Given the description of an element on the screen output the (x, y) to click on. 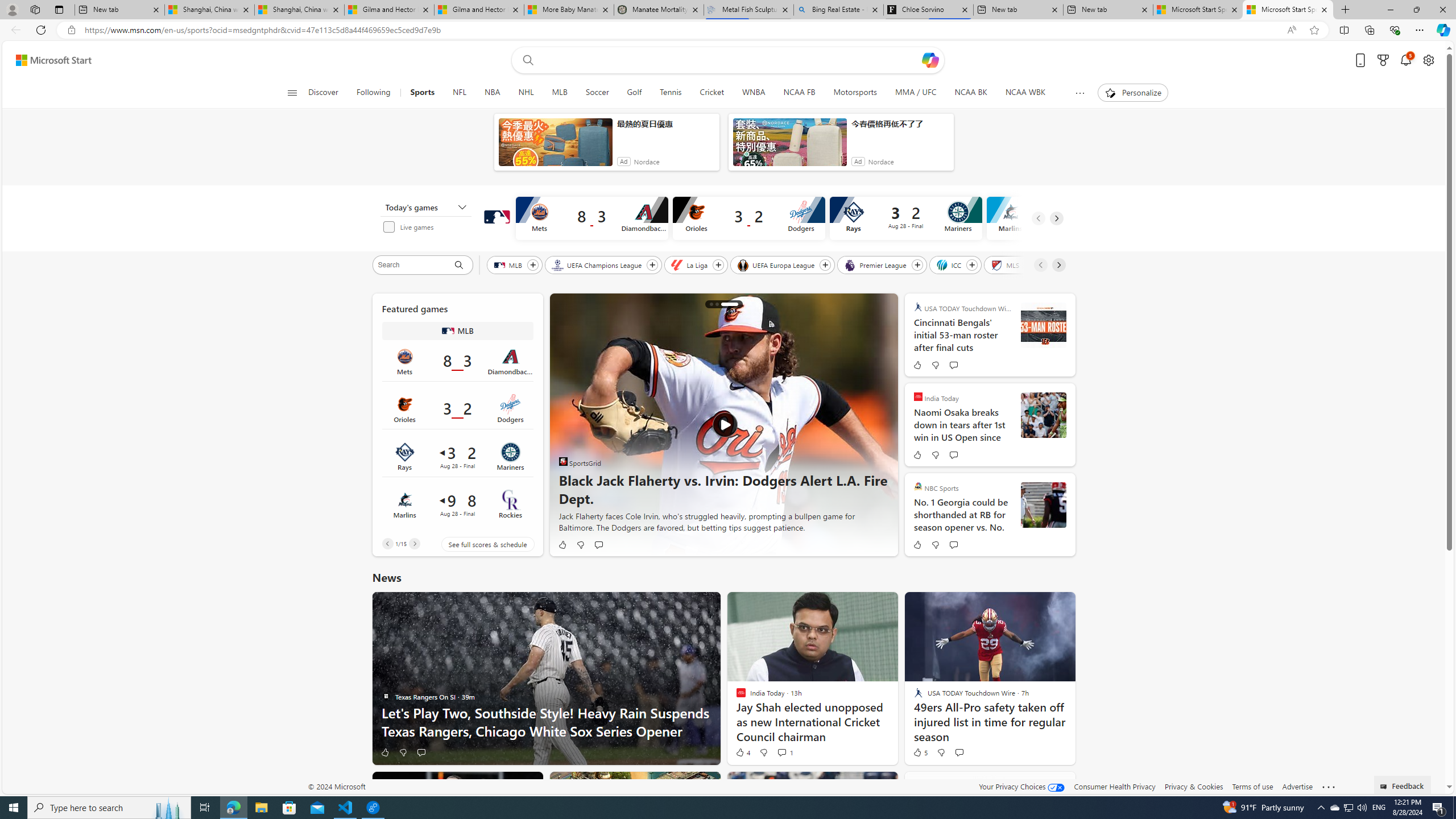
Class: around-the-league-card (456, 504)
NCAA FB (799, 92)
See more (1328, 787)
Tennis (670, 92)
Microsoft Start (53, 60)
NBA (492, 92)
Ad (857, 161)
NHL (526, 92)
Follow UEFA Champions League (652, 265)
Golf (633, 92)
Orioles 3 vs Dodgers 2Time 10:10 AM  (456, 409)
Bing Real Estate - Home sales and rental listings (838, 9)
Personalize (1132, 92)
Your Privacy Choices (1021, 786)
